Given the description of an element on the screen output the (x, y) to click on. 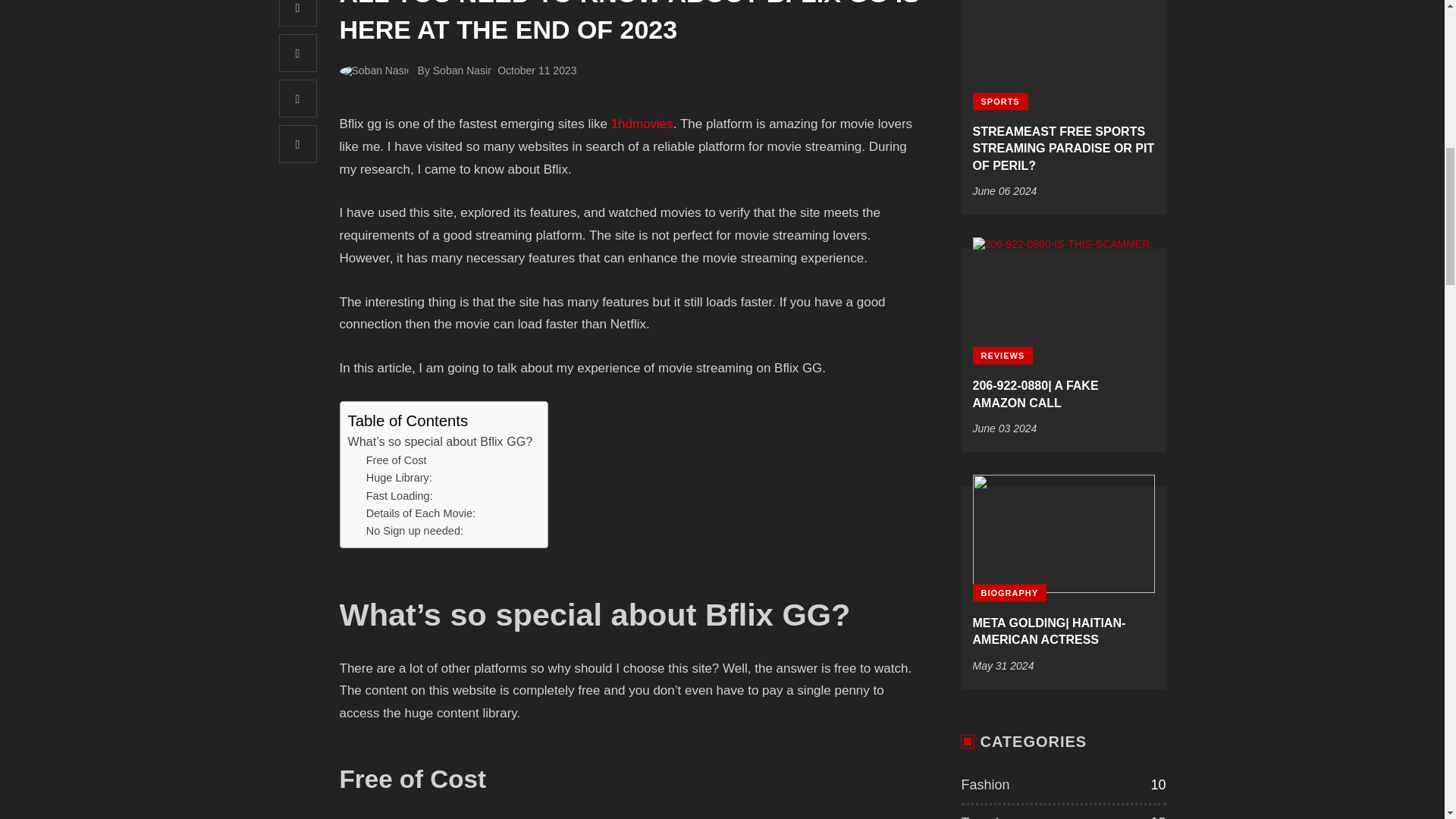
Share on Linkedin (298, 143)
October 11, 2023 at 10:45 am (536, 70)
Share on Twitter (298, 53)
Huge Library: (399, 477)
Fast Loading: (399, 496)
By Soban Nasir (454, 70)
1hdmovies (641, 124)
Details of Each Movie: (421, 513)
No Sign up needed: (414, 530)
Share on Facebook (298, 13)
